Given the description of an element on the screen output the (x, y) to click on. 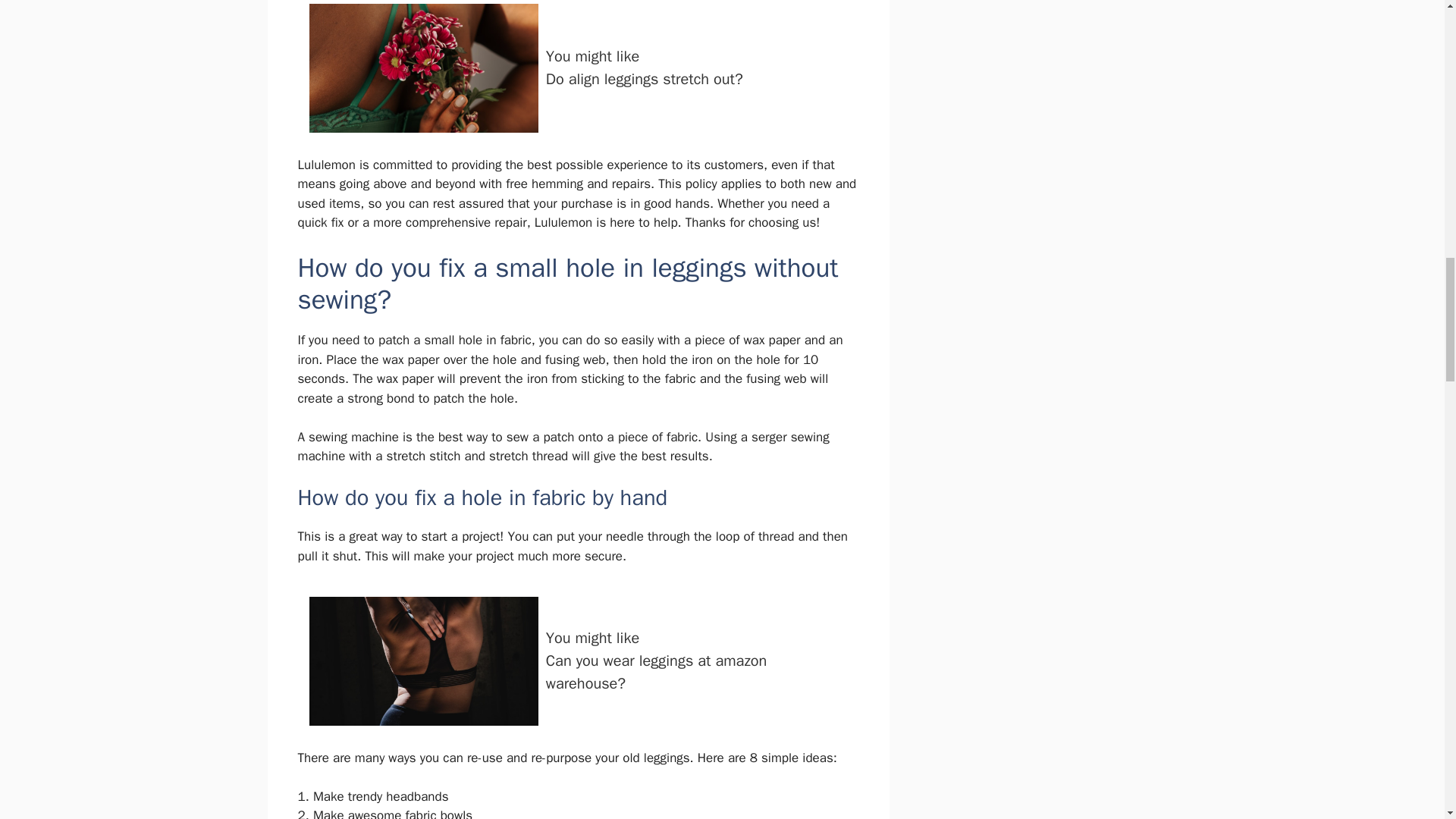
How to patch hole in leggings? (578, 72)
How to patch hole in leggings? (423, 68)
